Given the description of an element on the screen output the (x, y) to click on. 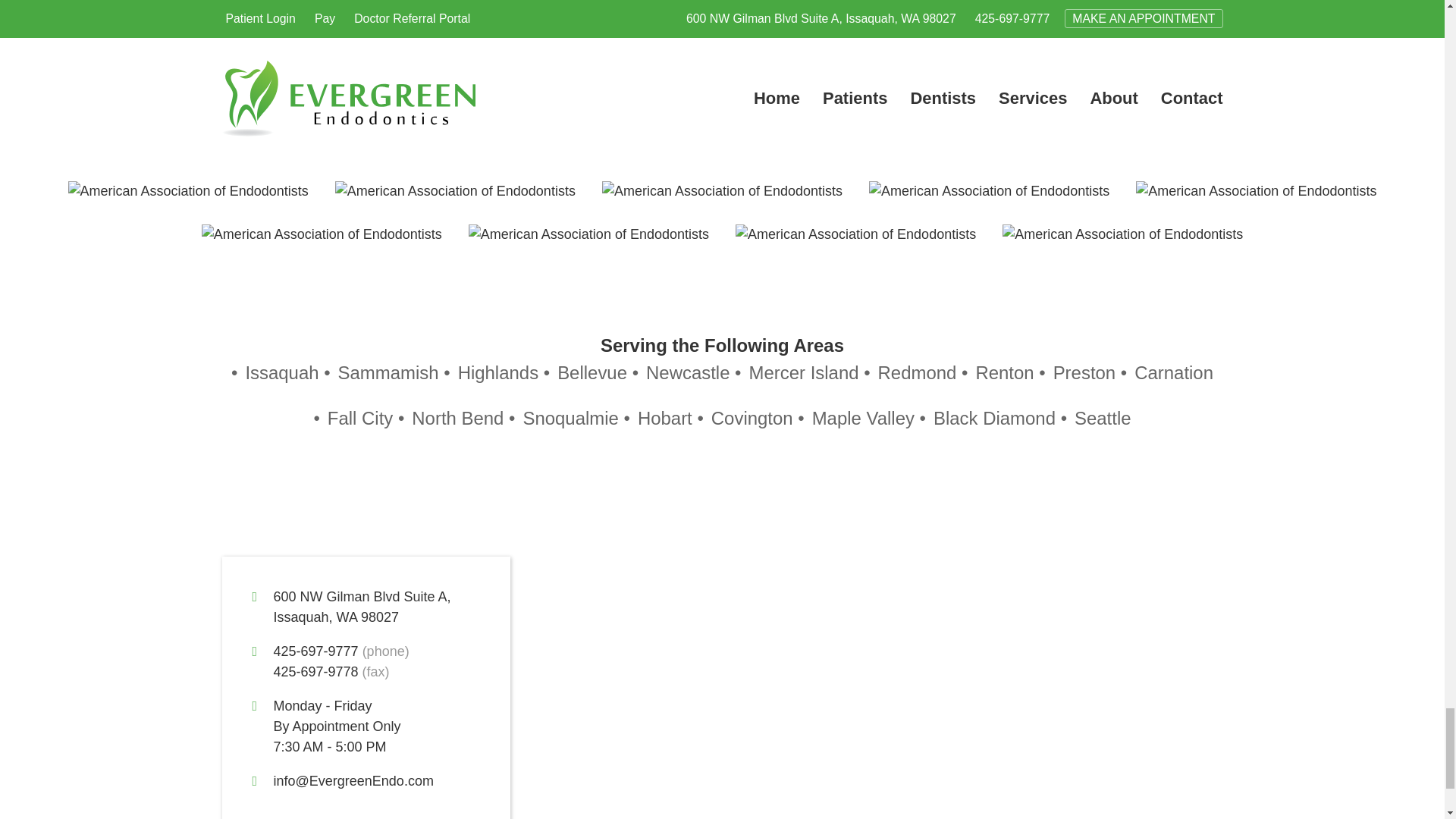
Call us (315, 651)
Show larger map (361, 606)
Email us (352, 780)
